Given the description of an element on the screen output the (x, y) to click on. 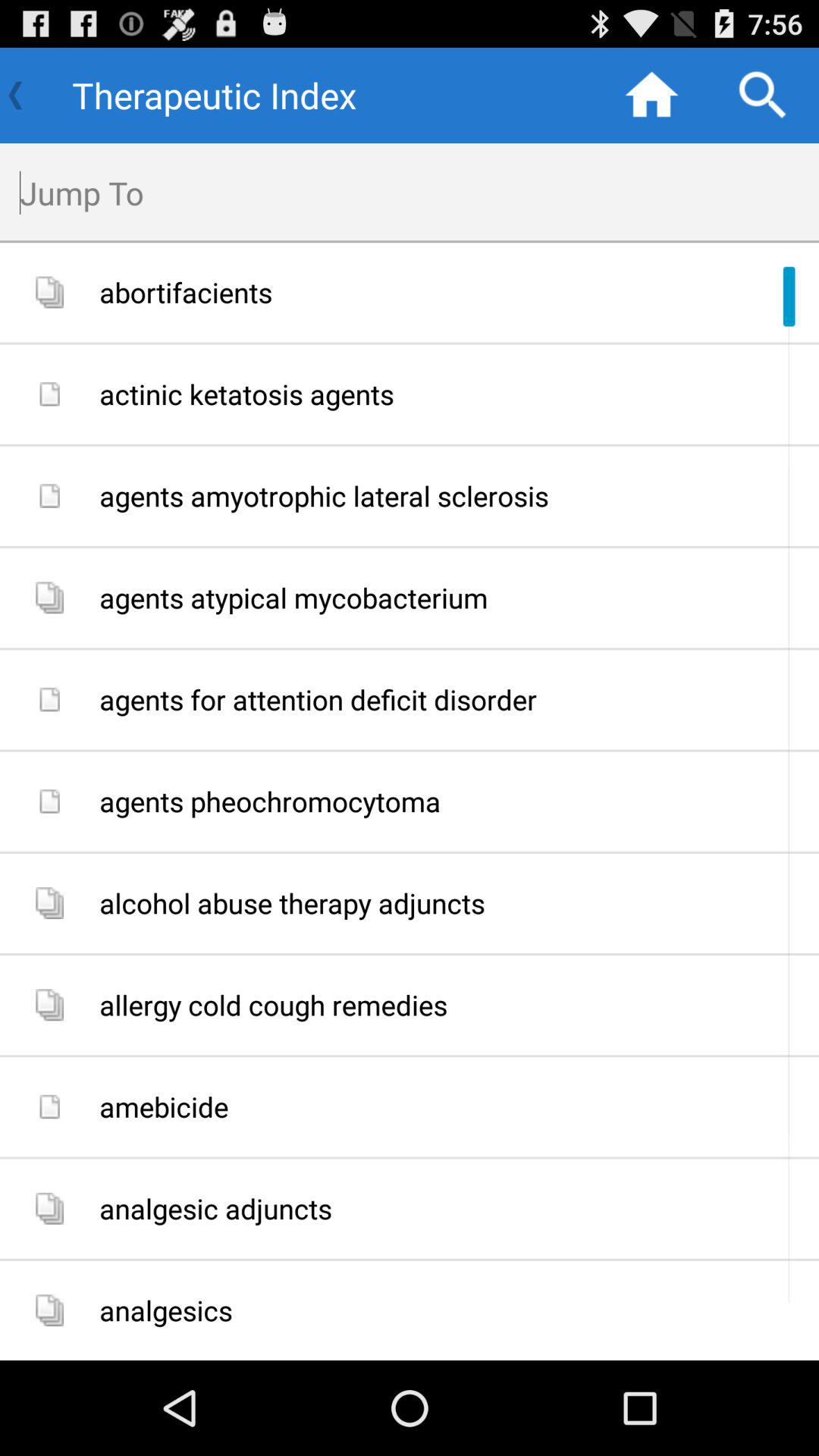
tap the agents for attention (453, 699)
